Given the description of an element on the screen output the (x, y) to click on. 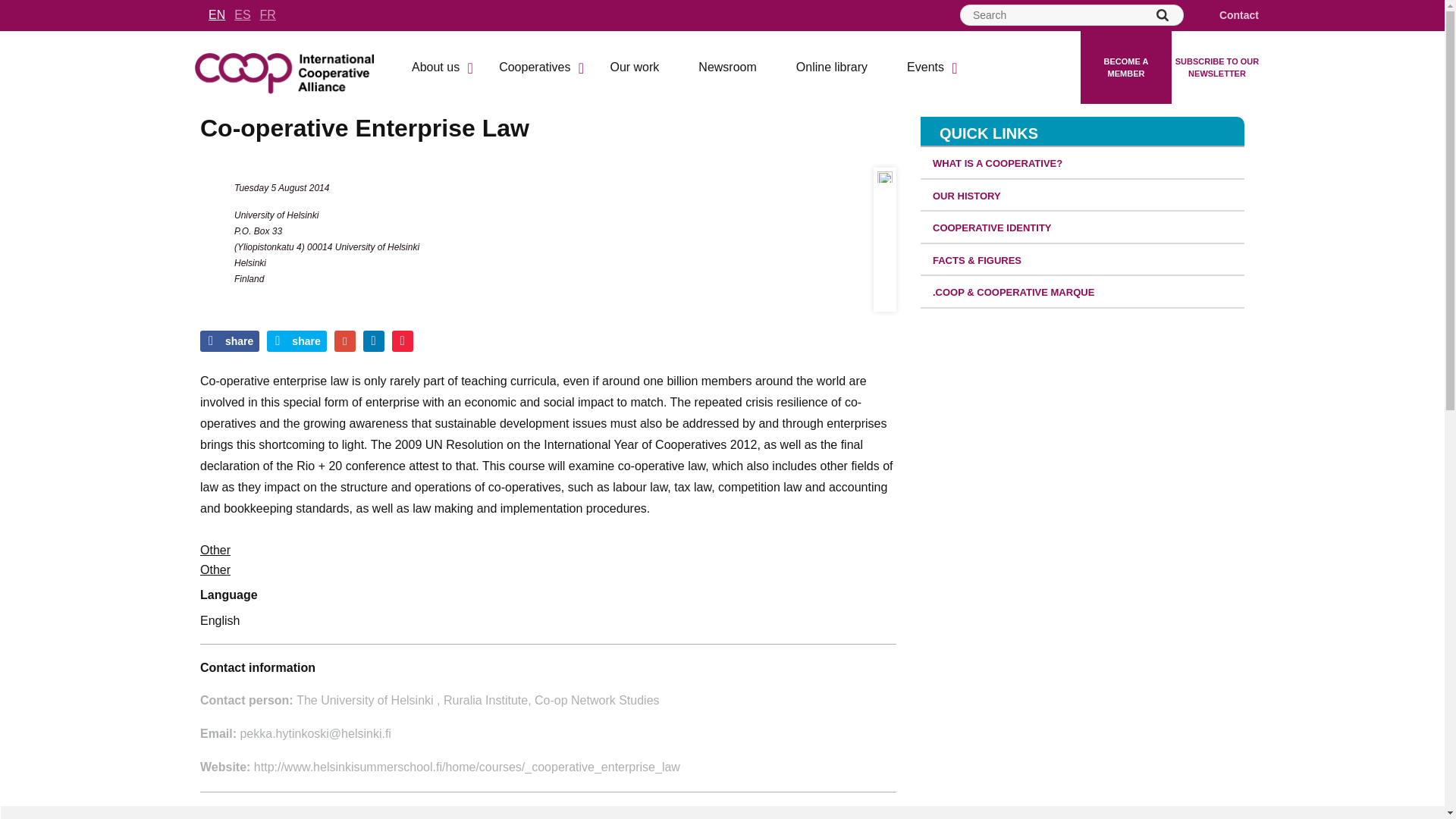
EN (216, 14)
ES (241, 14)
FR (268, 14)
Contact (1230, 14)
